Given the description of an element on the screen output the (x, y) to click on. 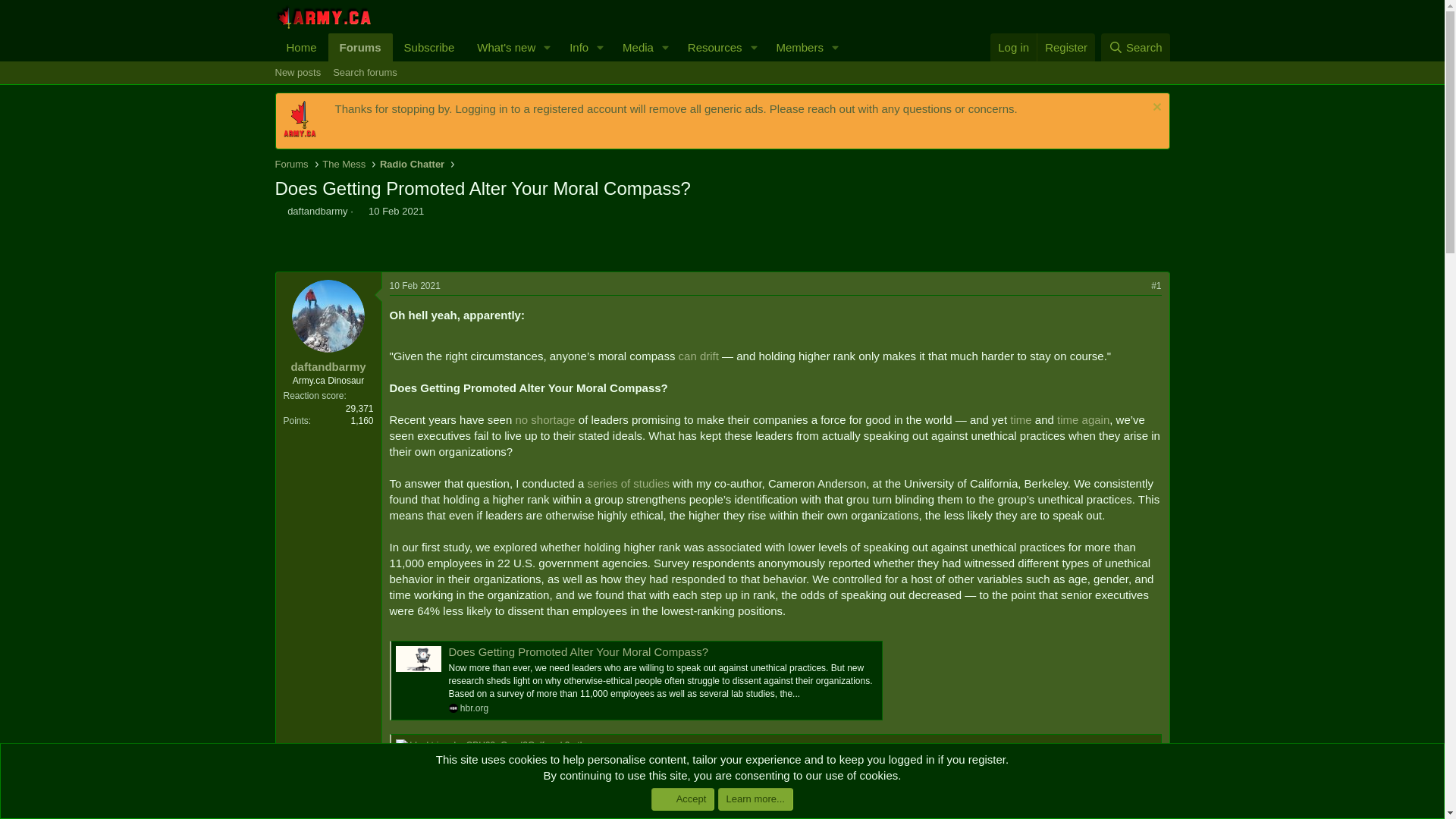
10 Feb 2021 at 10:45 (415, 285)
Thread starter (279, 211)
What's new (501, 47)
Info (573, 47)
Members (720, 89)
Forums (794, 47)
10 Feb 2021 at 10:45 (361, 47)
Media (395, 211)
Search (633, 47)
Start date (1135, 47)
Resources (360, 211)
Subscribe (710, 47)
